Given the description of an element on the screen output the (x, y) to click on. 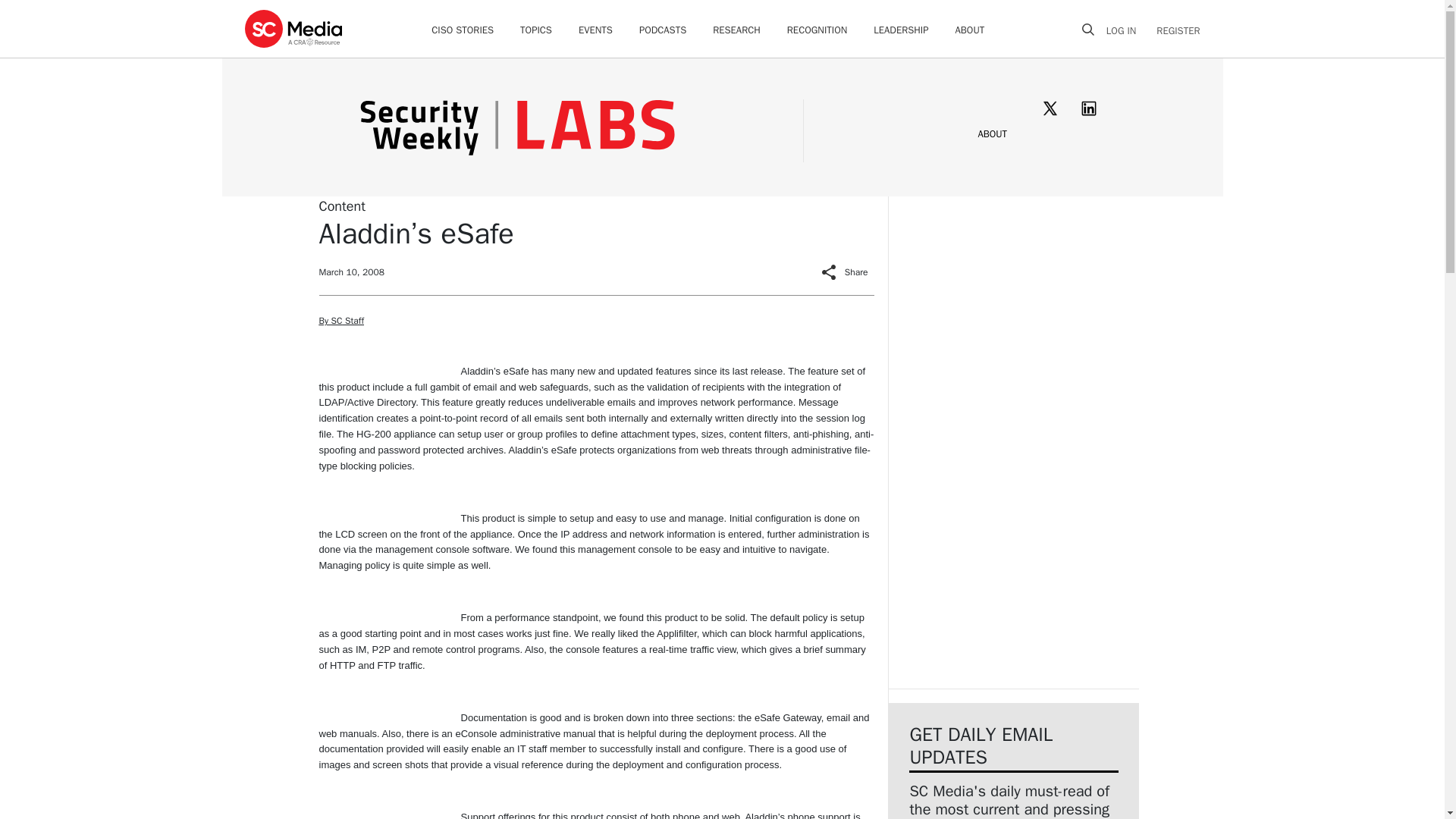
RECOGNITION (817, 30)
twitter (1050, 108)
TOPICS (535, 30)
Content (341, 205)
EVENTS (595, 30)
CISO STORIES (461, 30)
REGISTER (1173, 30)
SC Media (292, 27)
RESEARCH (736, 30)
ABOUT (991, 133)
